Given the description of an element on the screen output the (x, y) to click on. 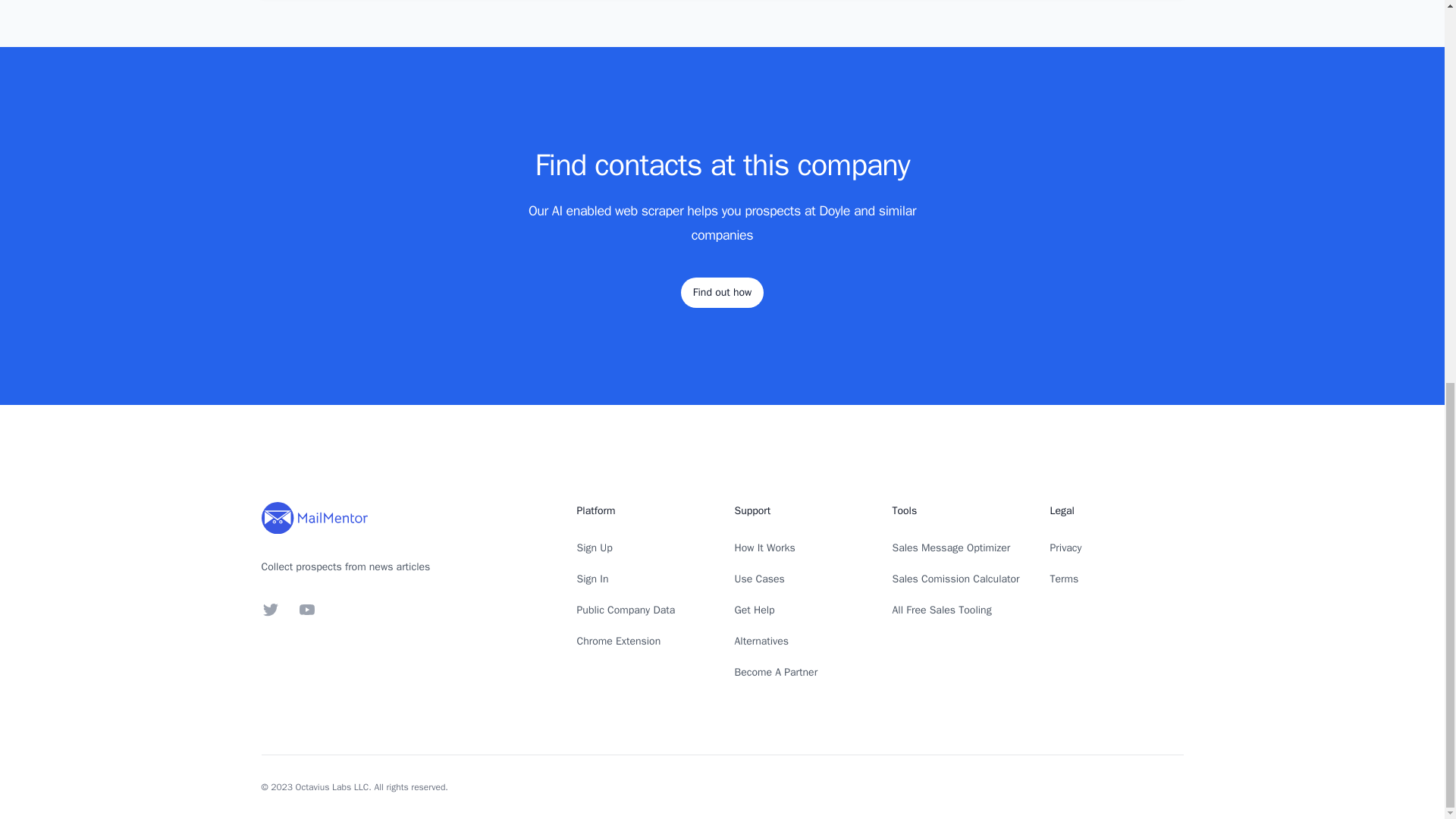
Get Help (753, 609)
All Free Sales Tooling (941, 609)
Sign Up (593, 547)
Privacy (1065, 547)
Octavius Labs LLC (332, 787)
Public Company Data (625, 609)
Sign In (592, 578)
Find out how (721, 292)
Become A Partner (774, 671)
Twitter (269, 609)
YouTube (306, 609)
Sales Comission Calculator (955, 578)
Sales Message Optimizer (950, 547)
Alternatives (761, 640)
Chrome Extension (618, 640)
